Given the description of an element on the screen output the (x, y) to click on. 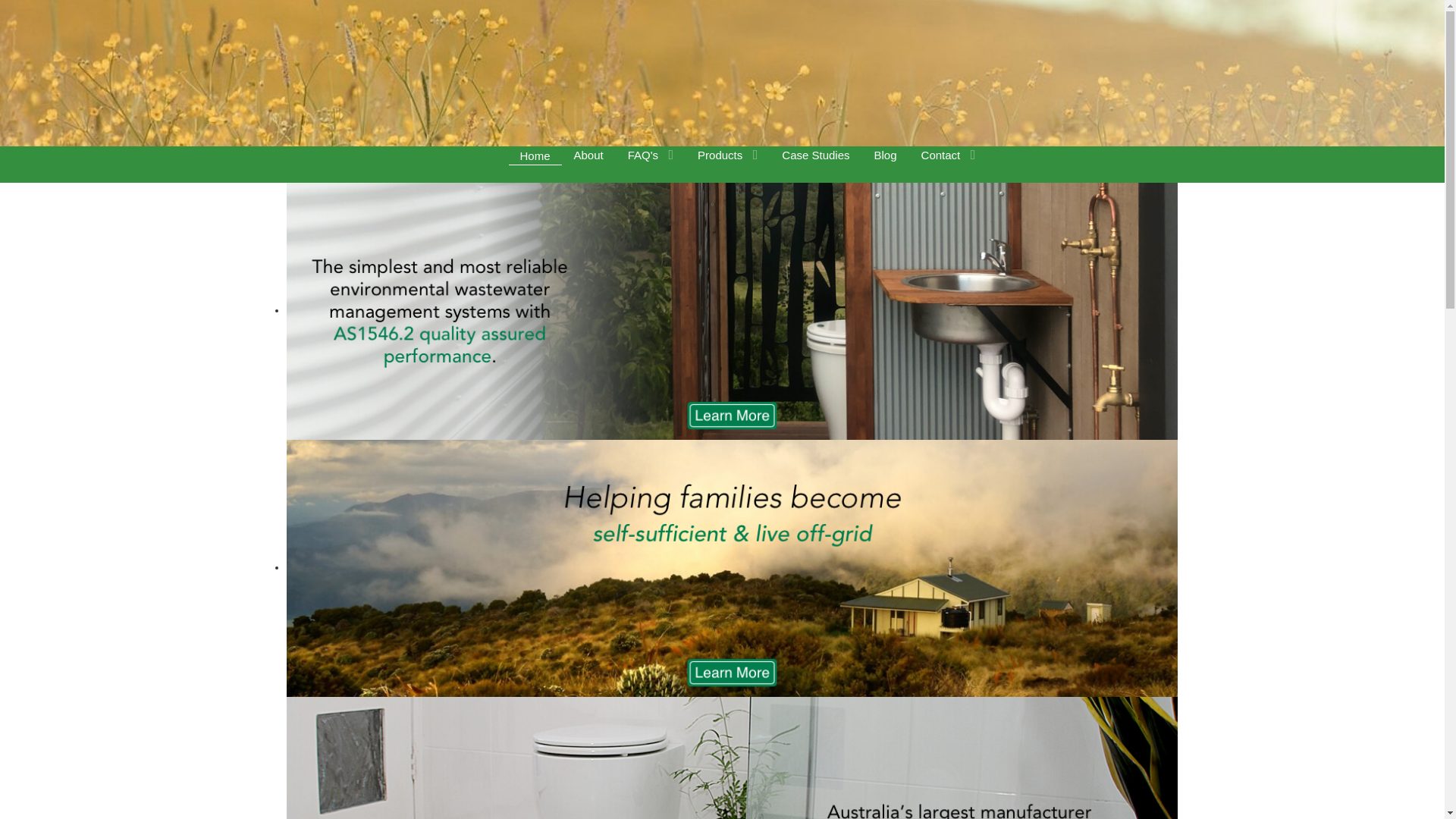
Subscribe Element type: text (29, 9)
Home Element type: text (534, 155)
Contact Element type: text (948, 155)
Products Element type: text (727, 155)
About Element type: text (588, 155)
FAQ's Element type: text (650, 155)
Blog Element type: text (885, 155)
Case Studies Element type: text (815, 155)
